Given the description of an element on the screen output the (x, y) to click on. 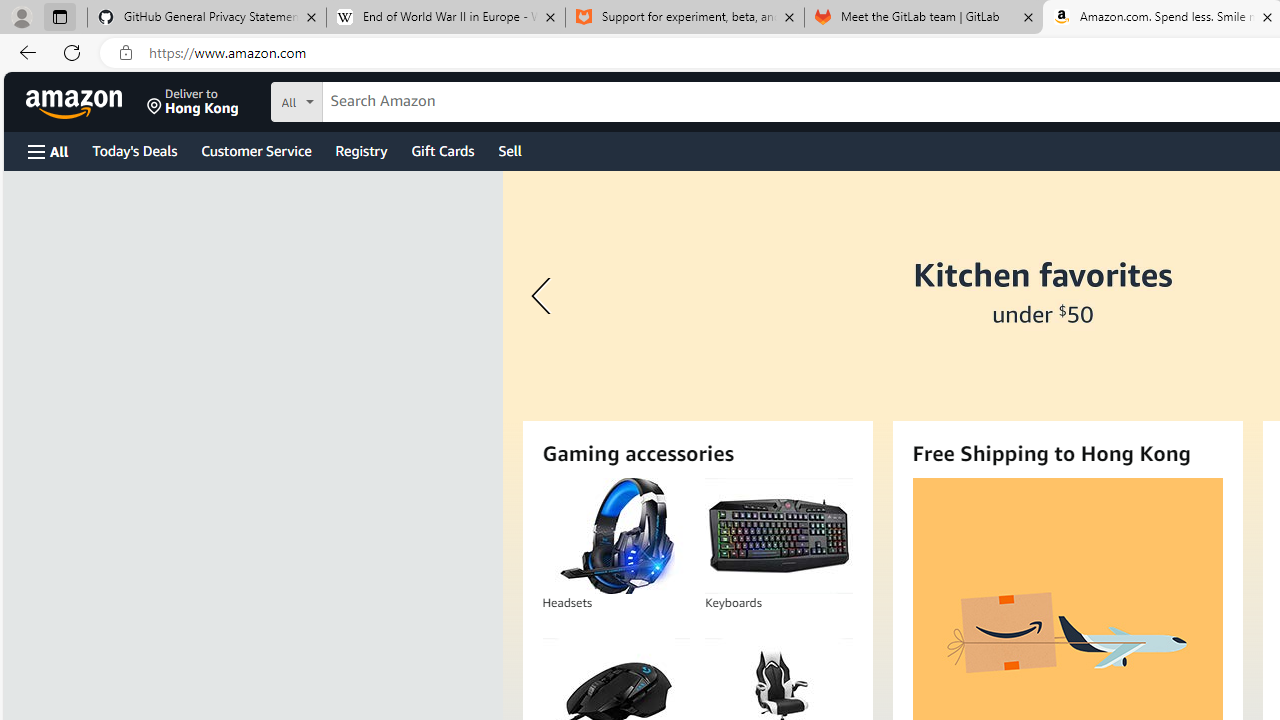
End of World War II in Europe - Wikipedia (445, 17)
Headsets (615, 536)
Customer Service (256, 150)
Skip to main content (86, 100)
Headsets (616, 536)
Registry (360, 150)
Open Menu (48, 151)
Meet the GitLab team | GitLab (924, 17)
Gift Cards (442, 150)
Deliver to Hong Kong (193, 101)
